Given the description of an element on the screen output the (x, y) to click on. 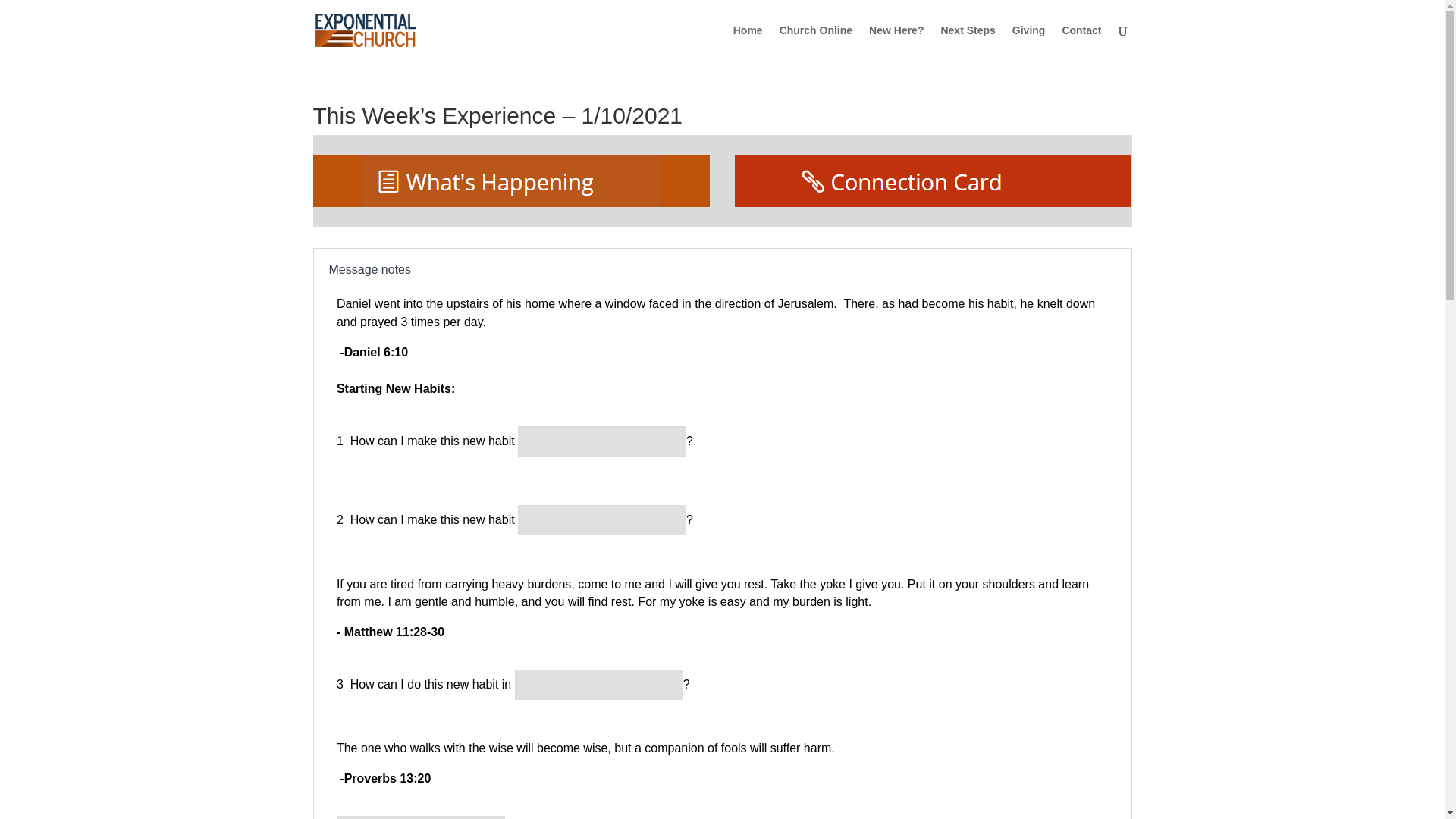
Contact (1080, 42)
Church Online (814, 42)
Next Steps (967, 42)
New Here? (896, 42)
Giving (1028, 42)
